Given the description of an element on the screen output the (x, y) to click on. 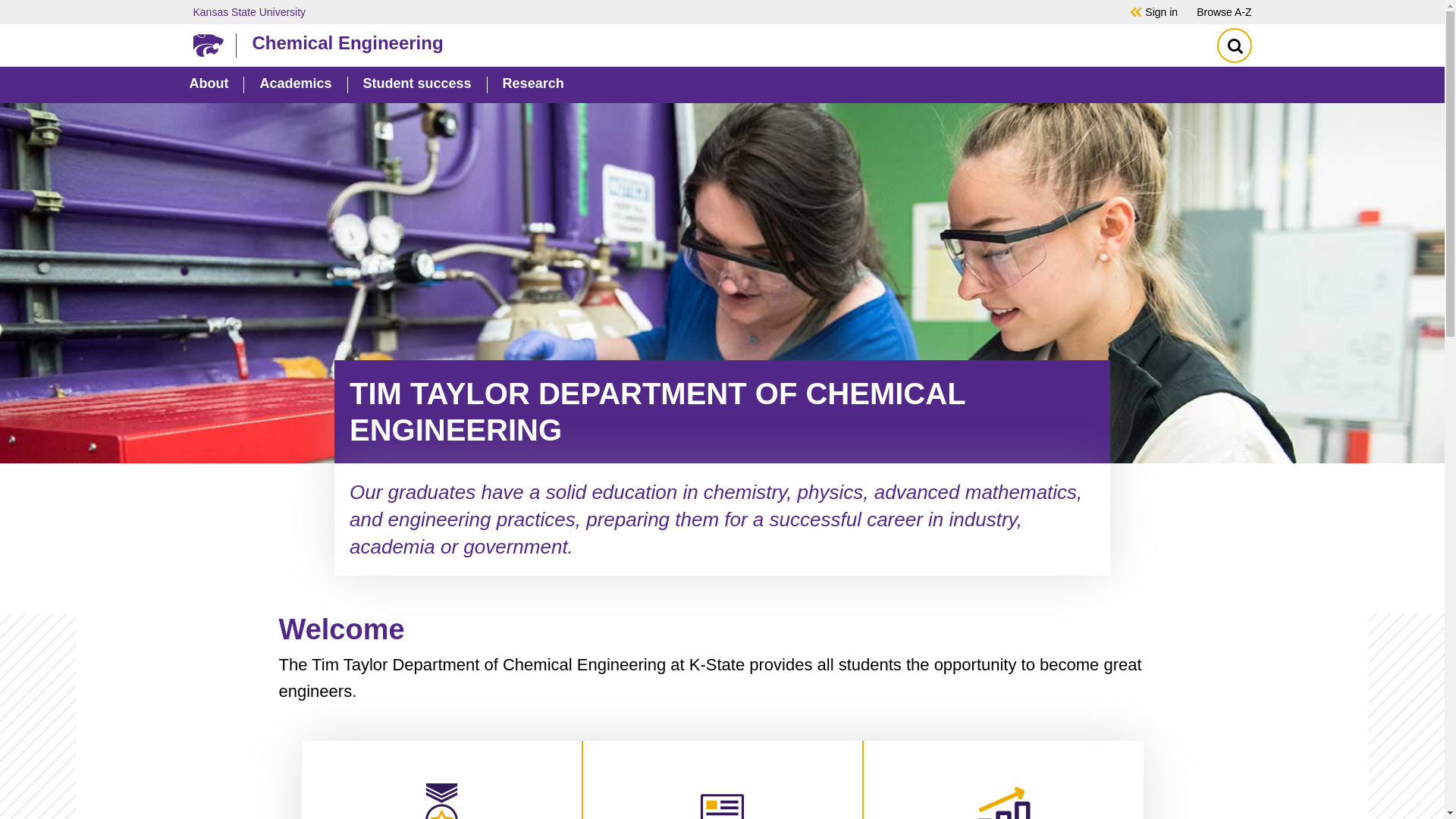
Research (533, 84)
Sign in (1160, 11)
Browse A-Z (1223, 11)
Student success (416, 84)
Academics (295, 84)
Chemical Engineering (718, 43)
Kansas State University (639, 11)
About (208, 84)
